Given the description of an element on the screen output the (x, y) to click on. 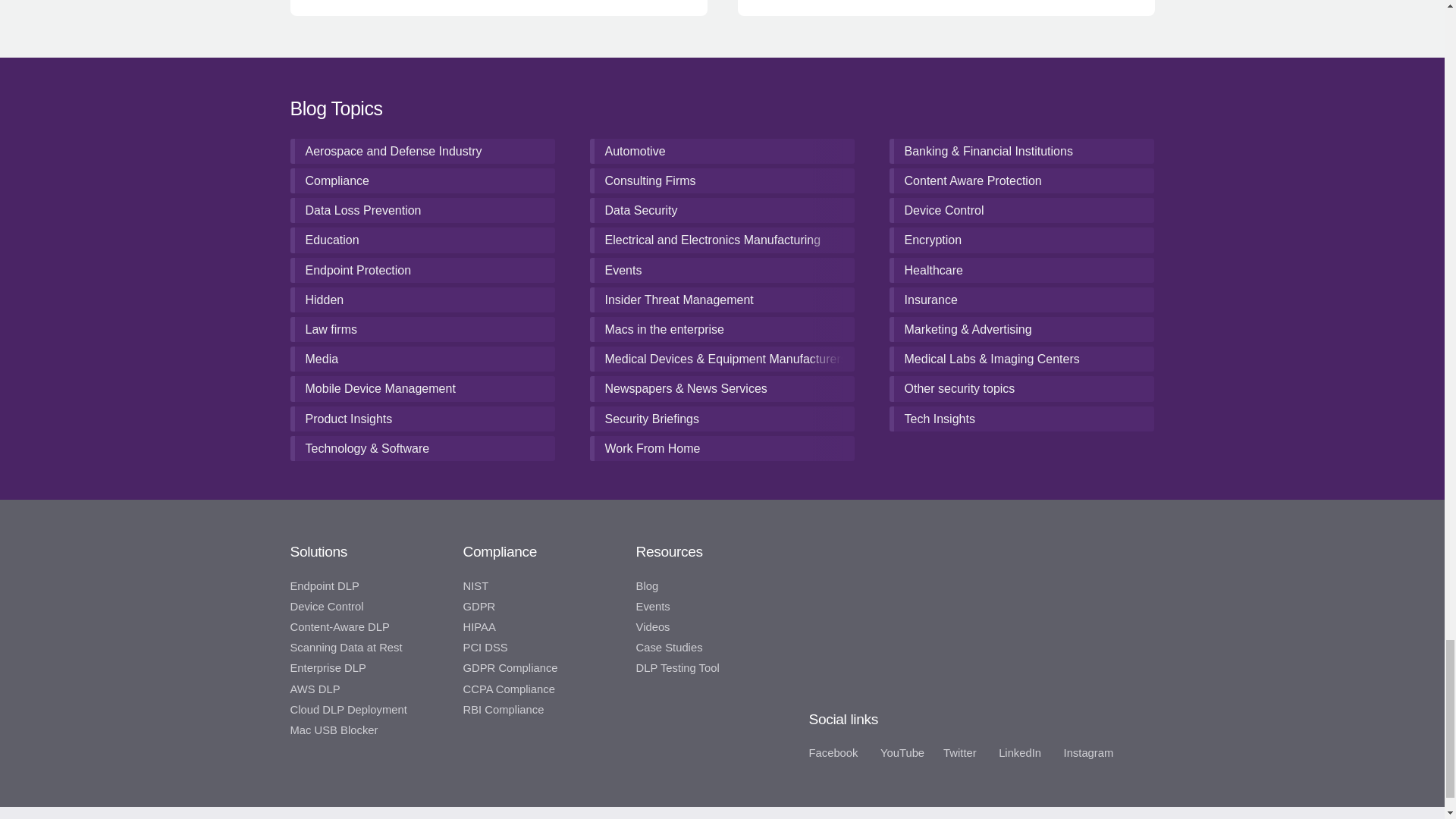
Top 3 Biggest Data Breaches in History (321, 7)
